Given the description of an element on the screen output the (x, y) to click on. 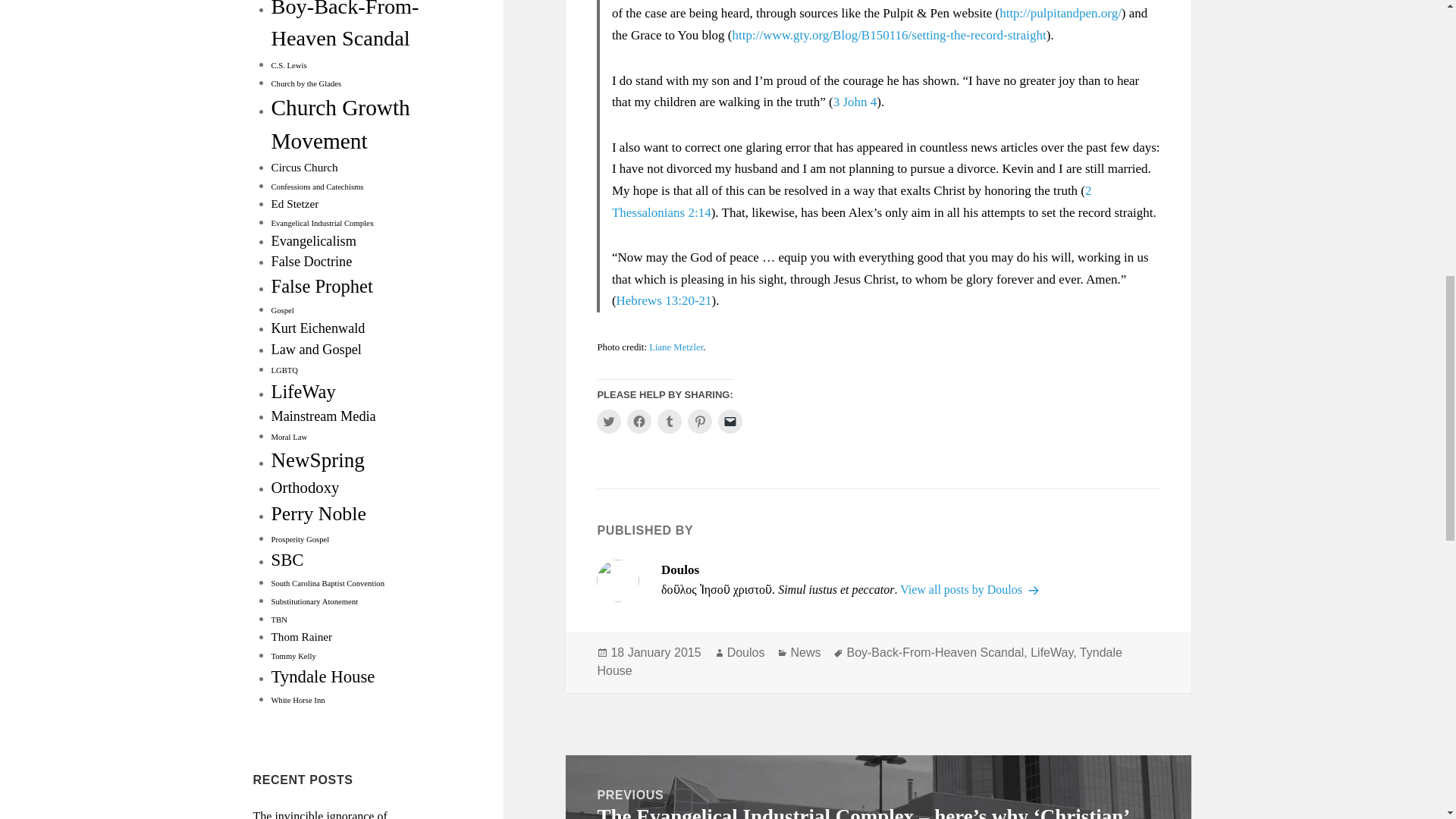
South Carolina Baptist Convention (327, 583)
NewSpring (317, 459)
Substitutionary Atonement (314, 601)
Kurt Eichenwald (317, 328)
Click to share on Tumblr (669, 421)
SBC (287, 559)
Boy-Back-From-Heaven Scandal (344, 24)
Tommy Kelly (292, 655)
LGBTQ (284, 370)
False Prophet (321, 286)
